Given the description of an element on the screen output the (x, y) to click on. 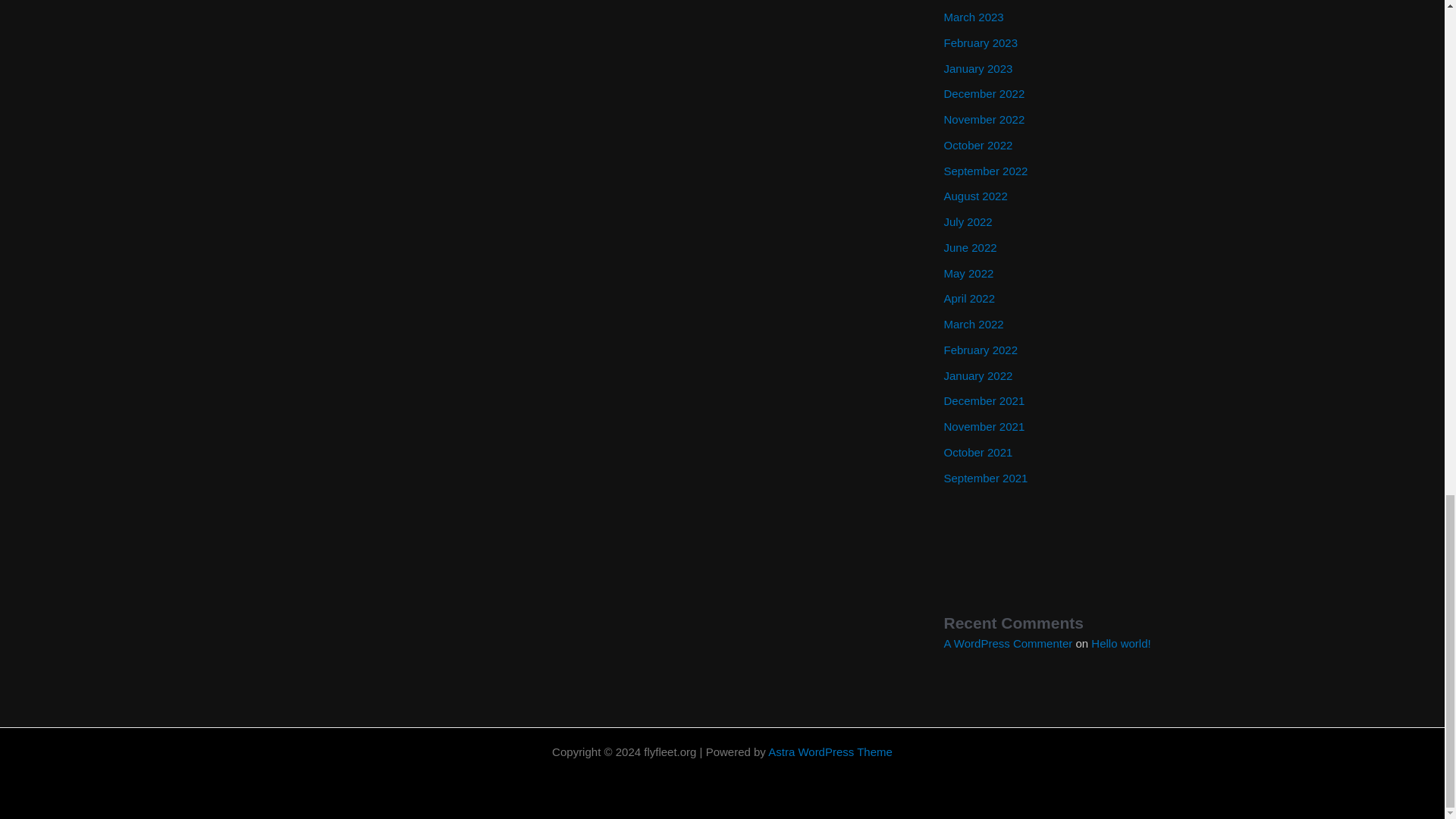
March 2023 (973, 16)
February 2023 (980, 42)
